Given the description of an element on the screen output the (x, y) to click on. 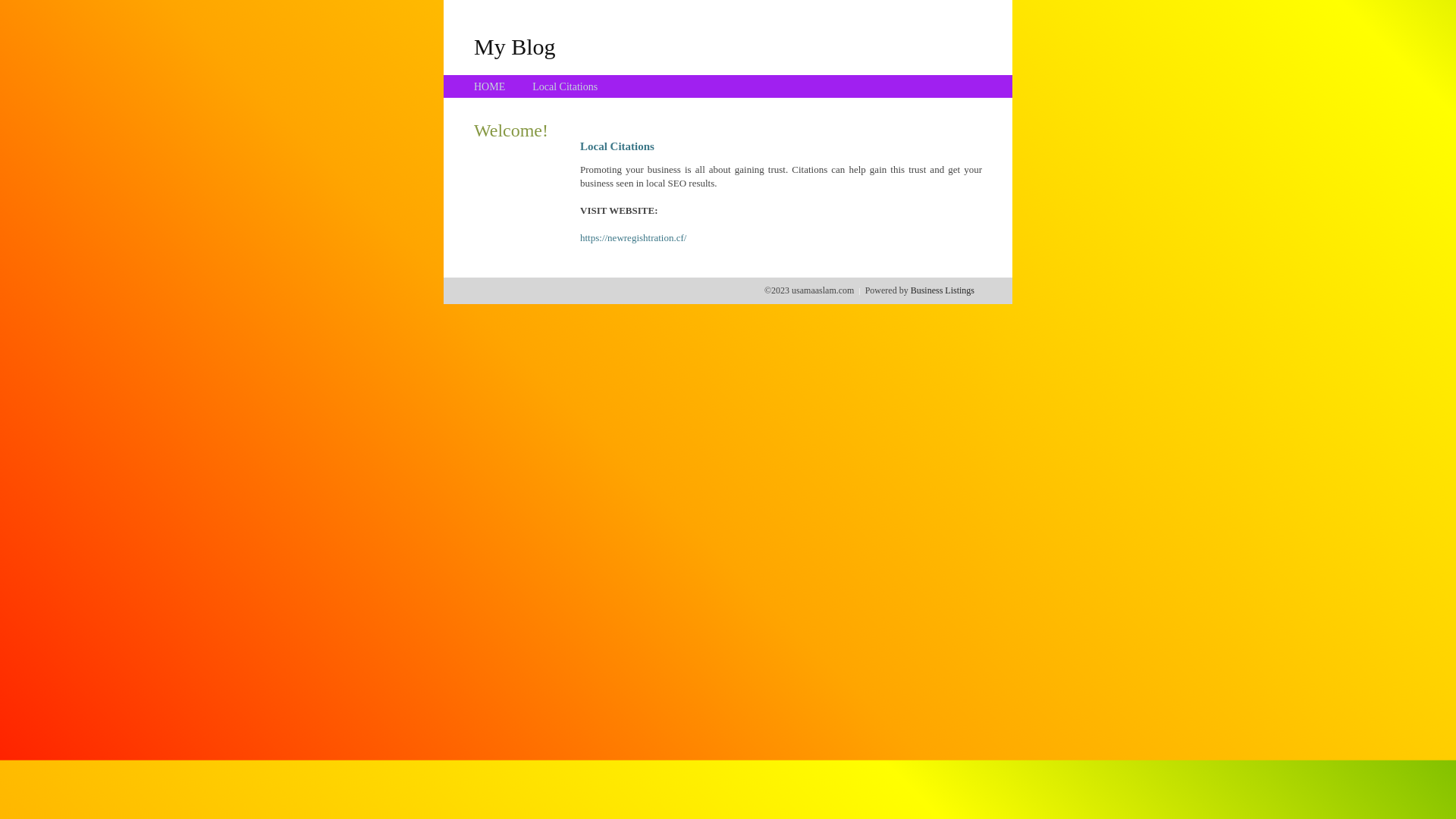
Business Listings Element type: text (942, 290)
My Blog Element type: text (514, 46)
Local Citations Element type: text (564, 86)
HOME Element type: text (489, 86)
https://newregishtration.cf/ Element type: text (633, 237)
